Given the description of an element on the screen output the (x, y) to click on. 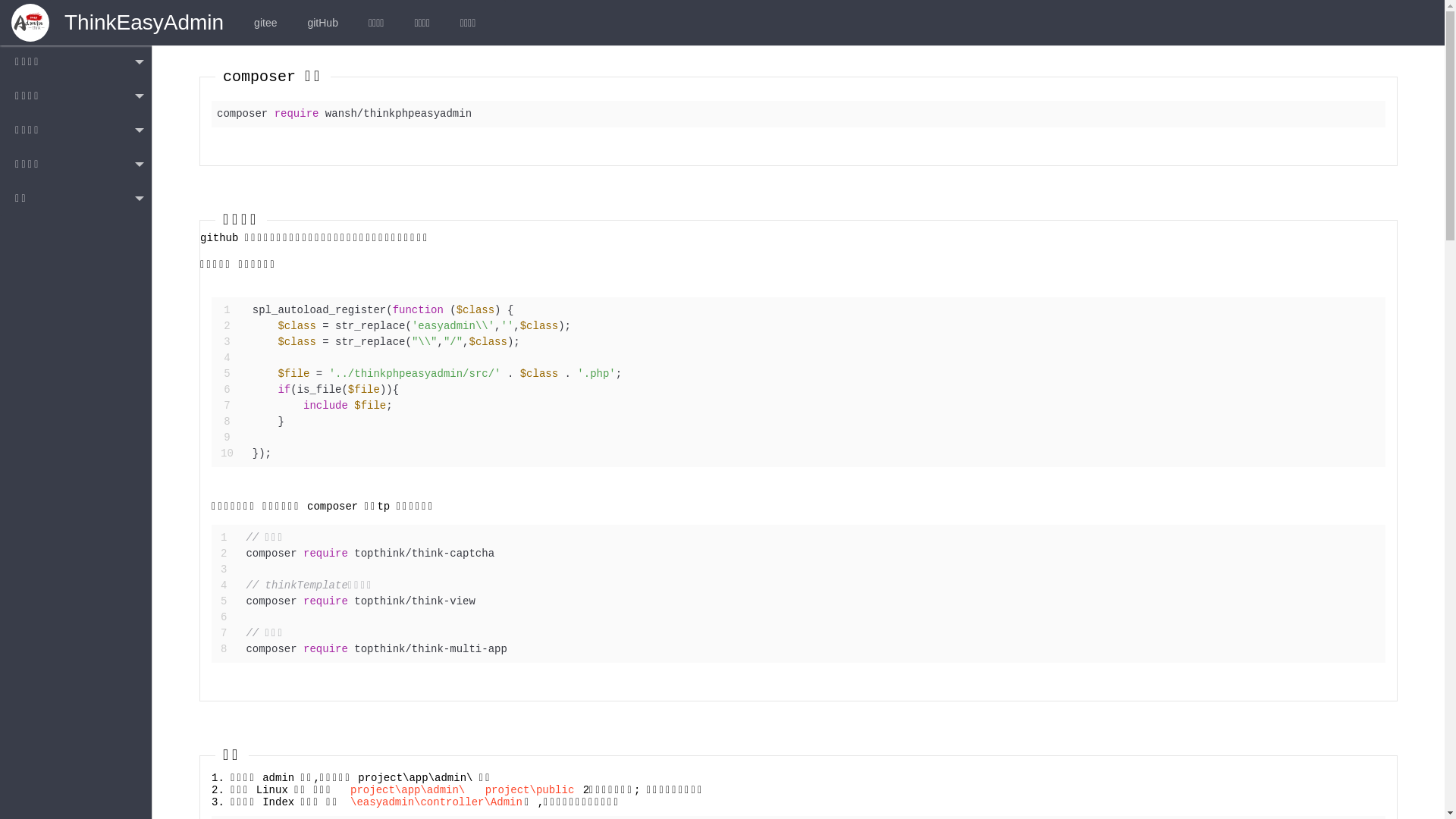
ThinkEasyAdmin Element type: text (143, 22)
gitHub Element type: text (321, 22)
gitee Element type: text (264, 22)
